Given the description of an element on the screen output the (x, y) to click on. 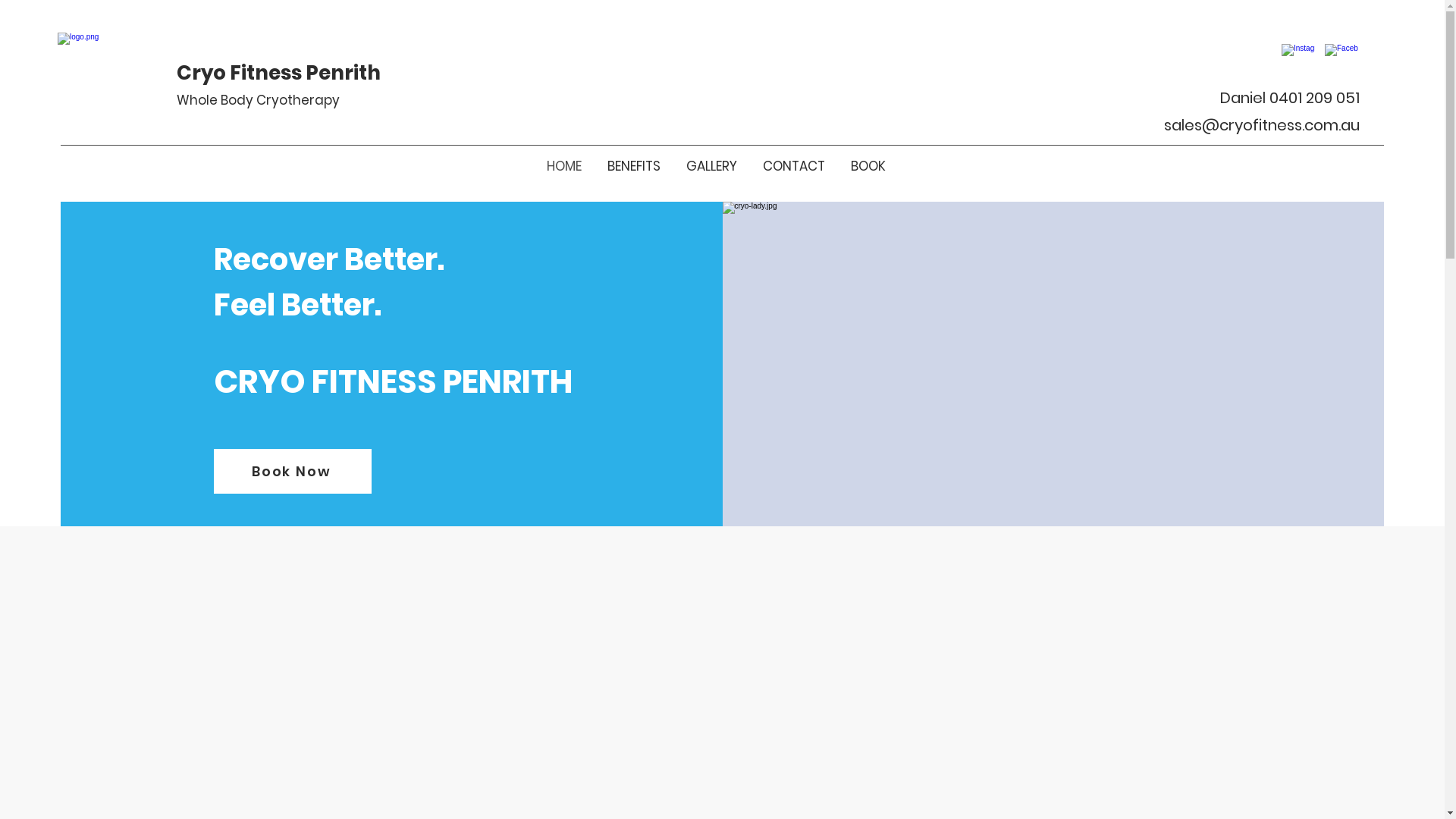
Book Now Element type: text (292, 470)
sales@cryofitness.com.au Element type: text (1261, 124)
GALLERY Element type: text (711, 165)
Cryo Fitness Penrith Element type: text (278, 72)
BOOK Element type: text (867, 165)
CONTACT Element type: text (793, 165)
BENEFITS Element type: text (633, 165)
HOME Element type: text (563, 165)
